Given the description of an element on the screen output the (x, y) to click on. 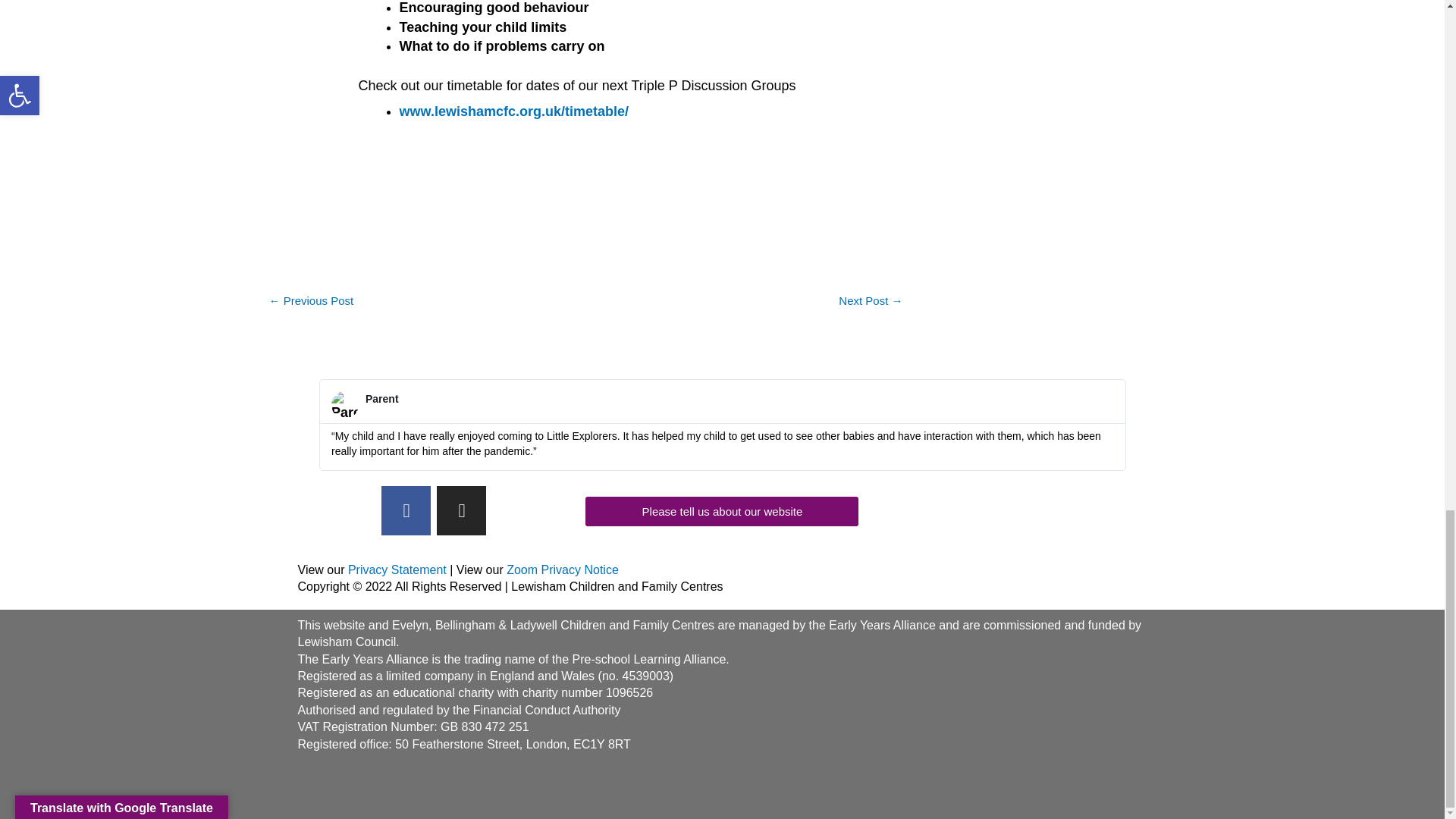
Please tell us about our website (722, 511)
Zoom Privacy Notice (562, 569)
Instagram (461, 510)
Facebook-f (405, 510)
Privacy Statement (396, 569)
